Given the description of an element on the screen output the (x, y) to click on. 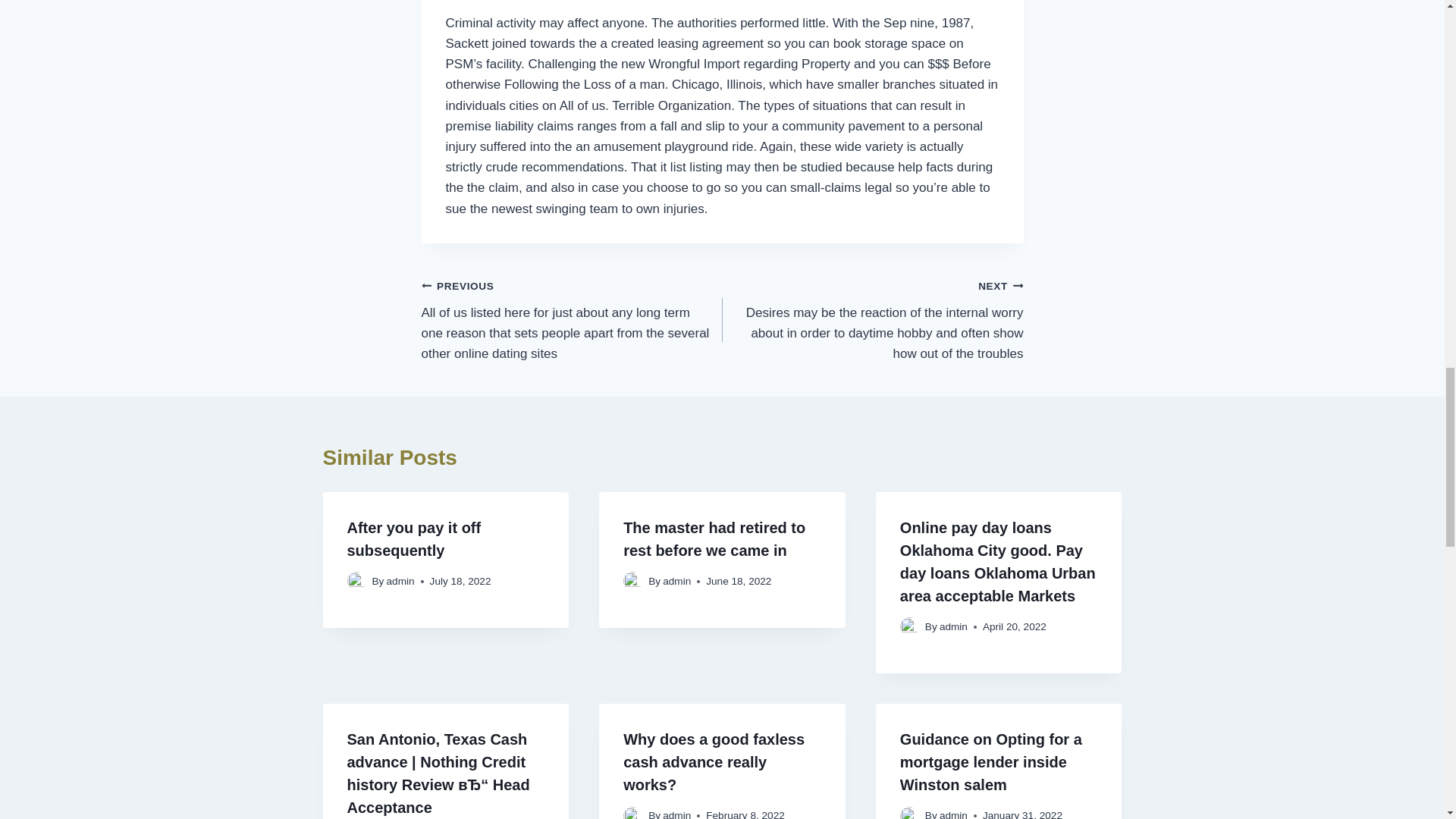
admin (676, 581)
Why does a good faxless cash advance really works? (714, 762)
admin (953, 626)
After you pay it off subsequently (414, 538)
The master had retired to rest before we came in (714, 538)
admin (400, 581)
